Given the description of an element on the screen output the (x, y) to click on. 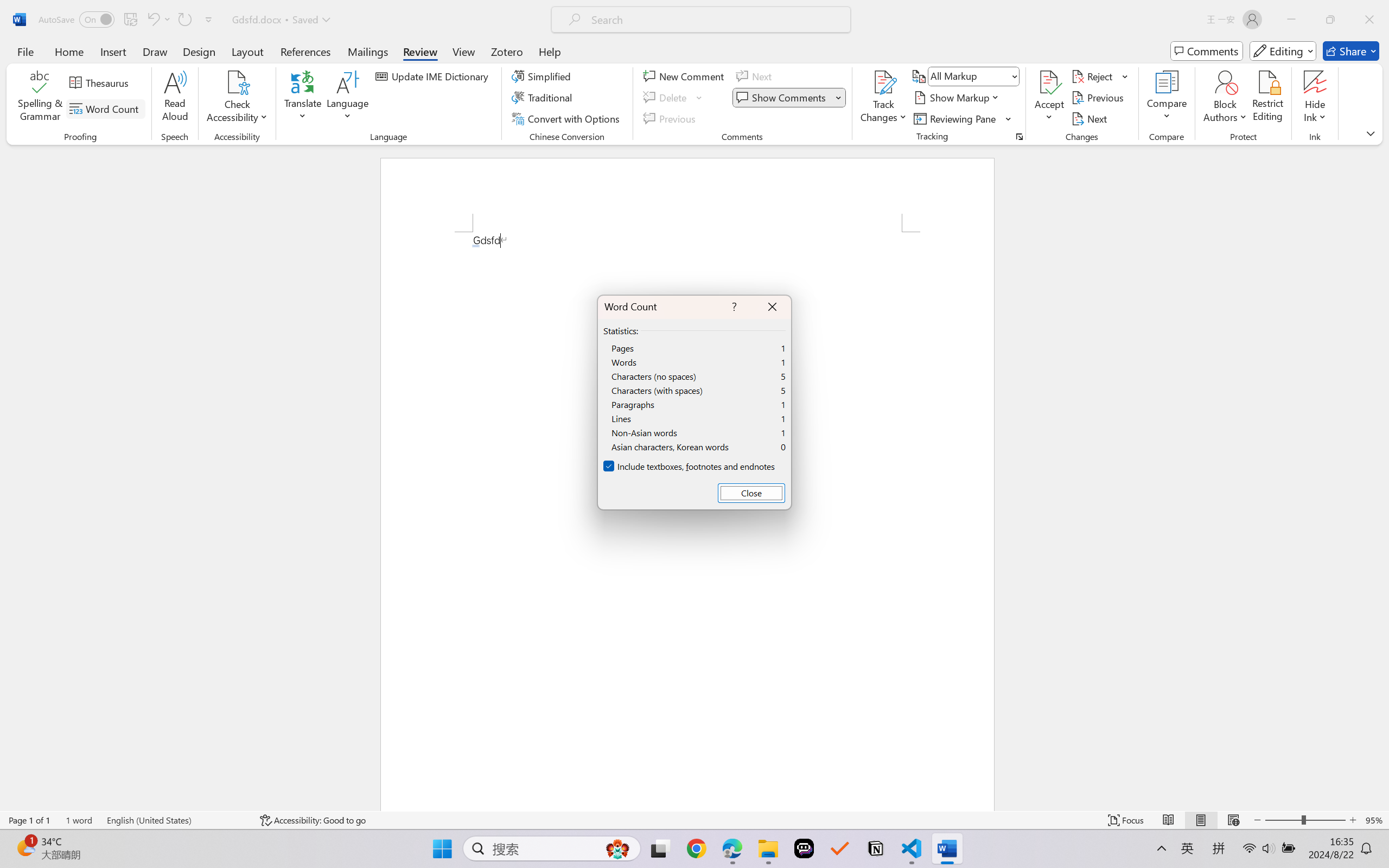
Google Chrome (696, 848)
Word Count (105, 108)
Delete (666, 97)
Simplified (542, 75)
Translate (303, 97)
Delete (673, 97)
